Given the description of an element on the screen output the (x, y) to click on. 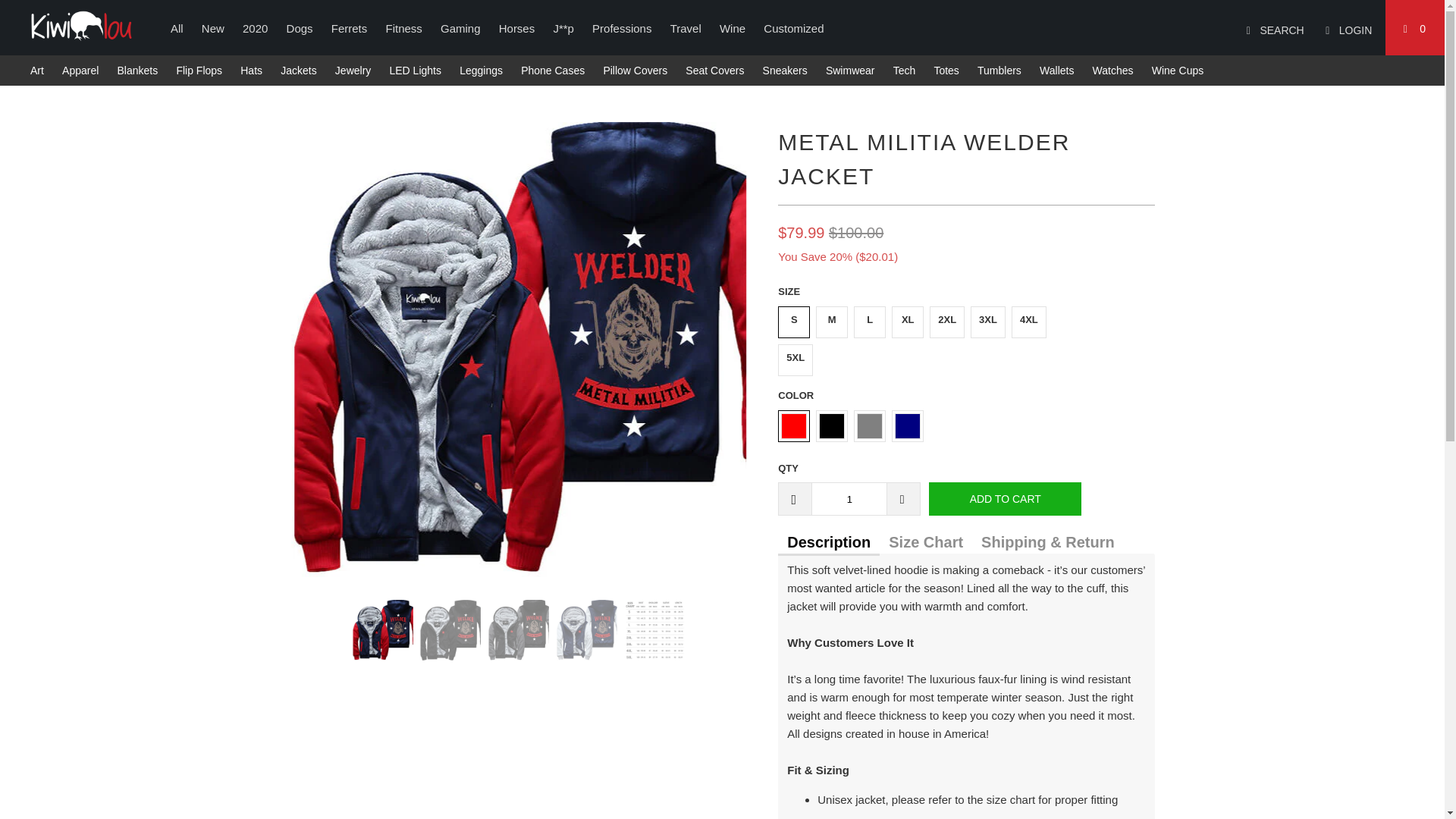
KiwiLou (81, 26)
1 (848, 498)
Search (1271, 28)
My Account  (1346, 28)
